Given the description of an element on the screen output the (x, y) to click on. 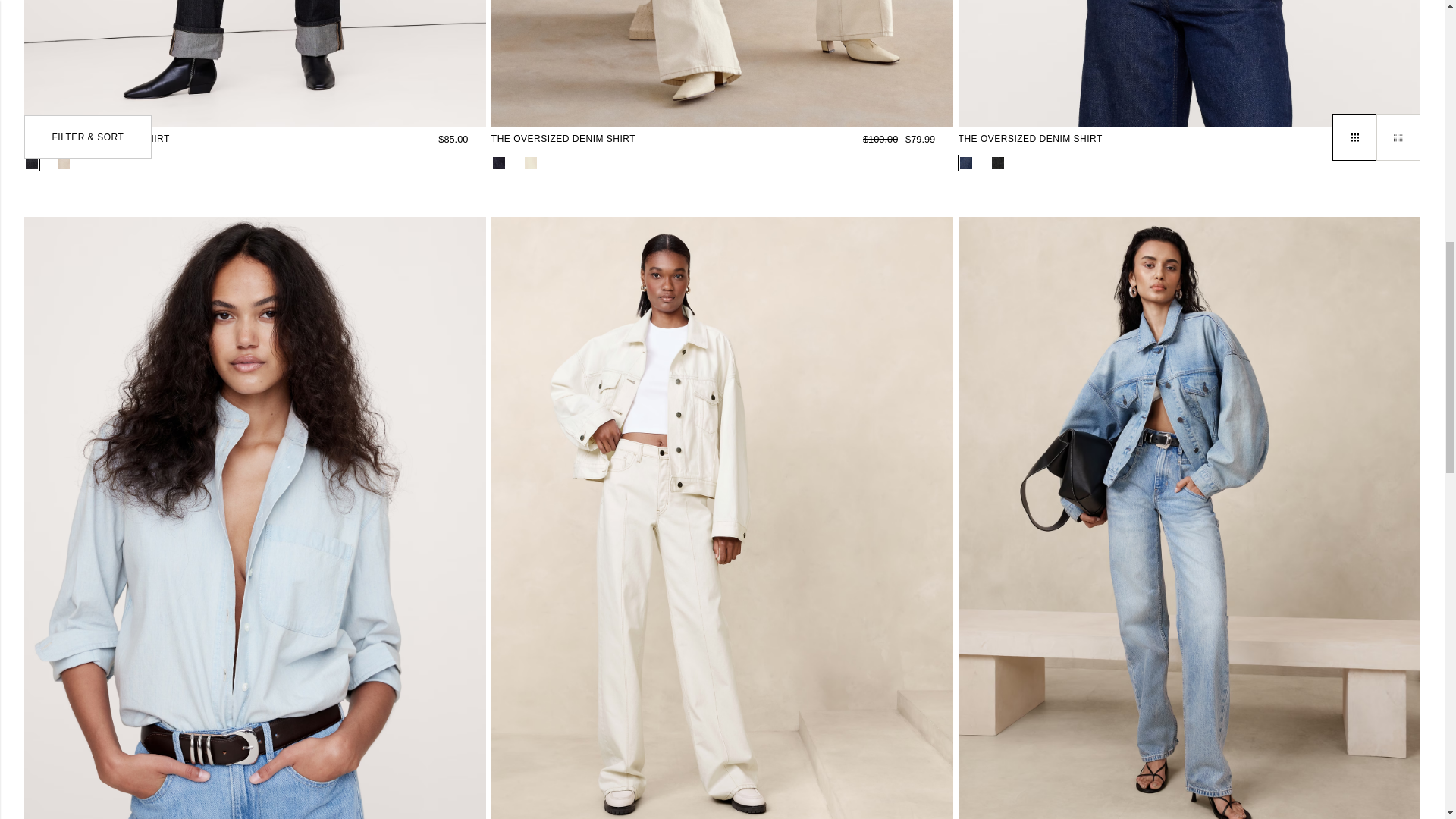
black (31, 162)
blue (965, 162)
beige (530, 162)
beige (63, 162)
blue (499, 162)
black (997, 162)
